Given the description of an element on the screen output the (x, y) to click on. 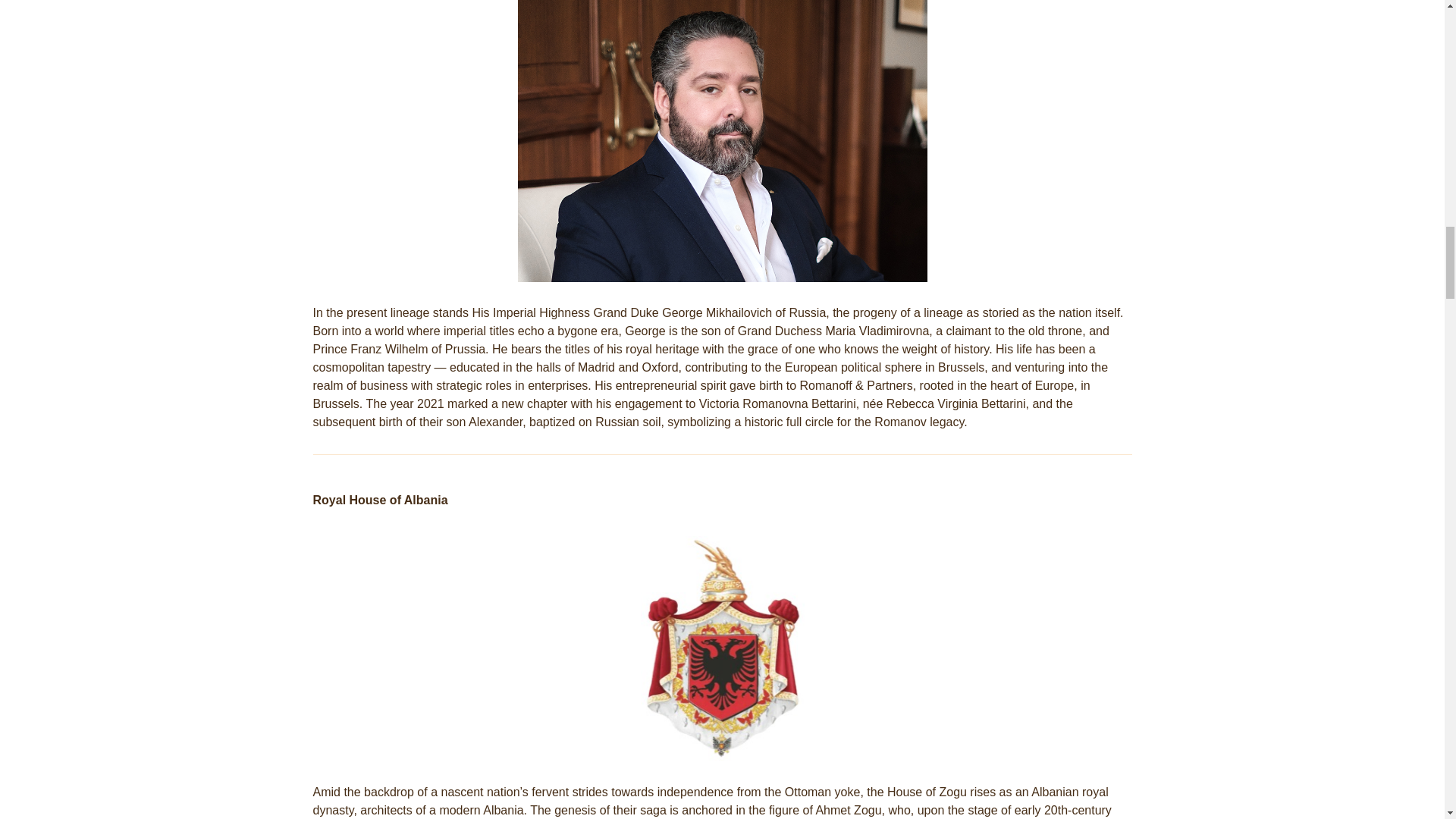
grand-duke-george-of-russia-georgiy (721, 140)
